Given the description of an element on the screen output the (x, y) to click on. 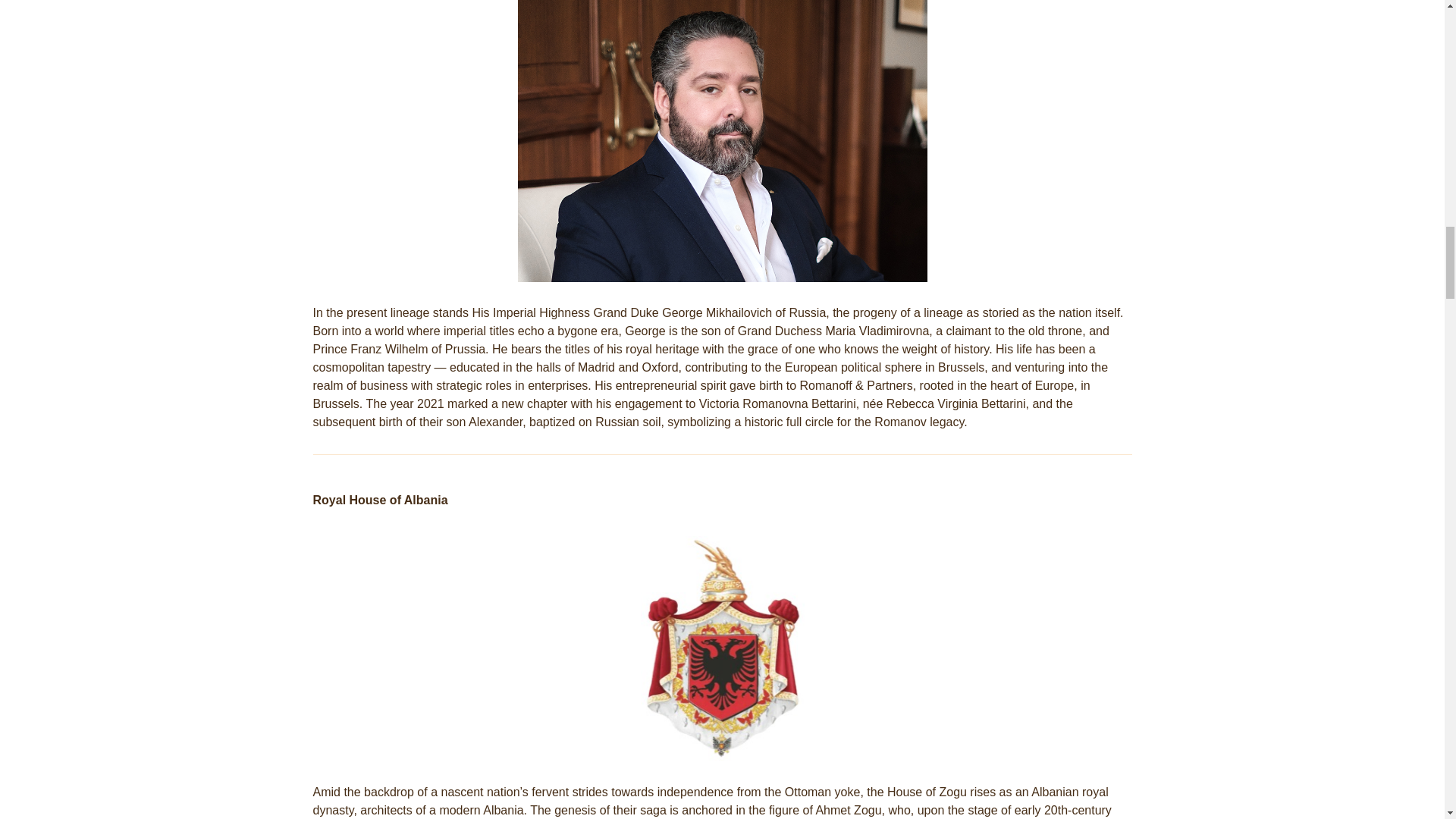
grand-duke-george-of-russia-georgiy (721, 140)
